Given the description of an element on the screen output the (x, y) to click on. 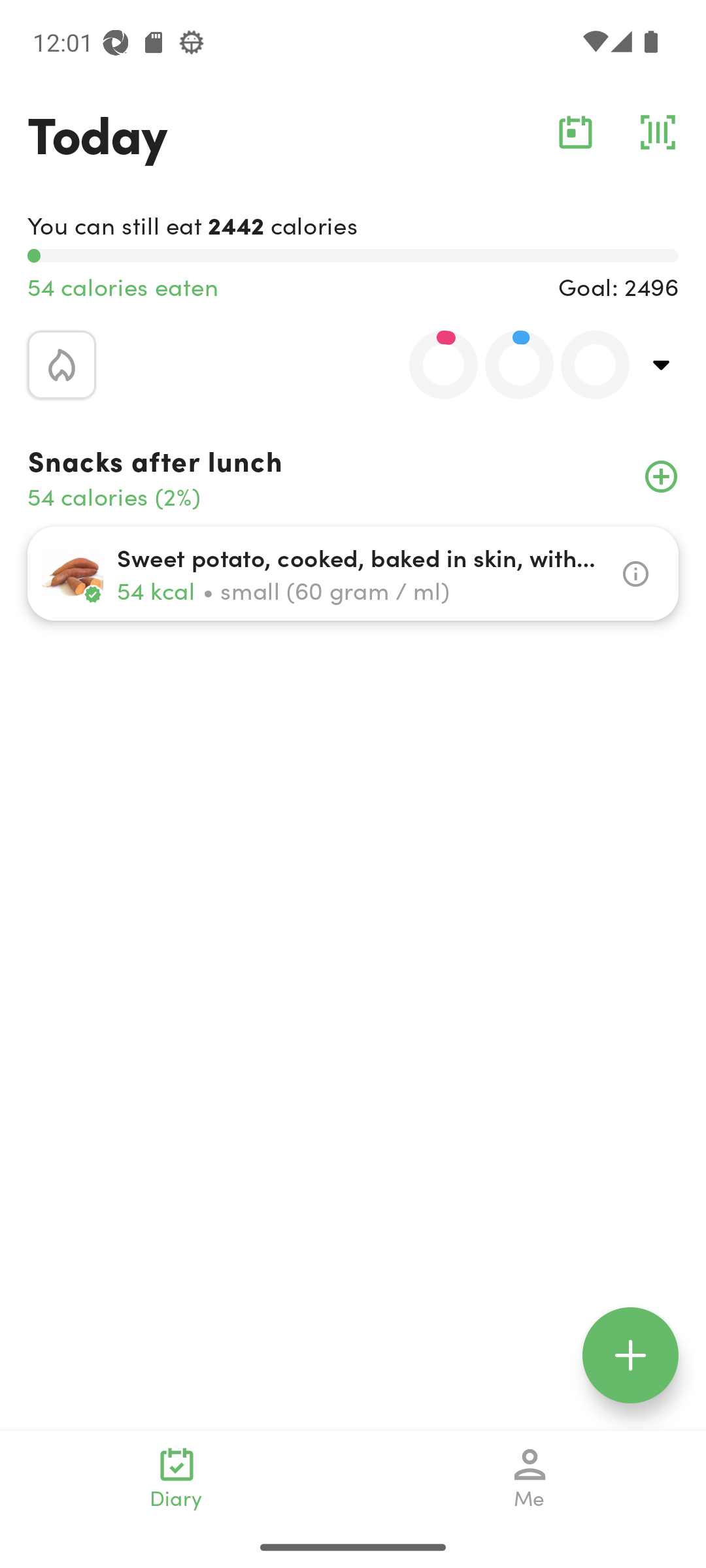
calendar_action (575, 132)
barcode_action (658, 132)
calorie_icon (62, 365)
0.03 0.02 0.0 (508, 365)
top_right_action (661, 365)
info_icon (636, 573)
floating_action_icon (630, 1355)
Me navigation_icon (529, 1478)
